Given the description of an element on the screen output the (x, y) to click on. 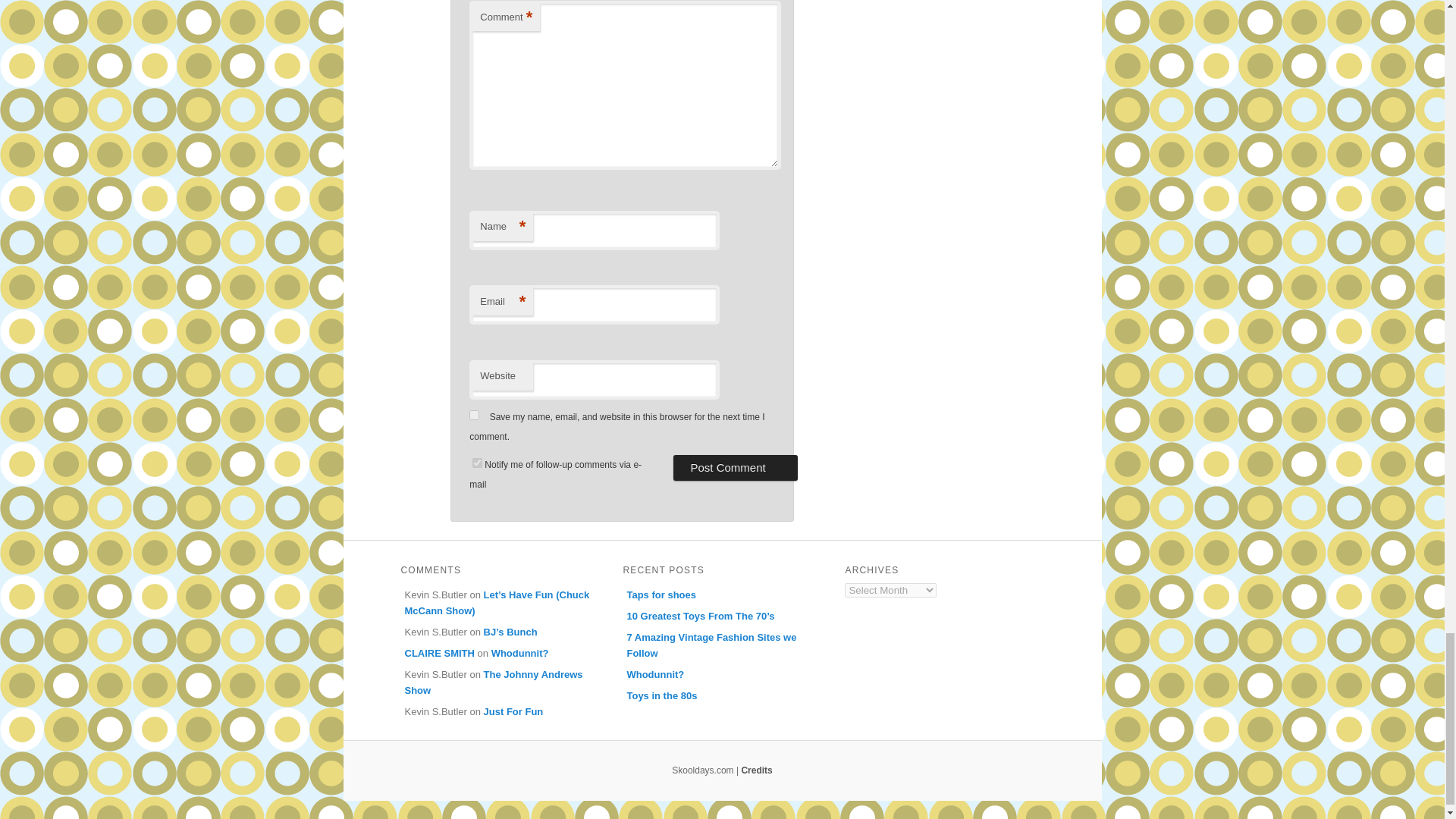
yes (473, 415)
Post Comment (734, 467)
